Given the description of an element on the screen output the (x, y) to click on. 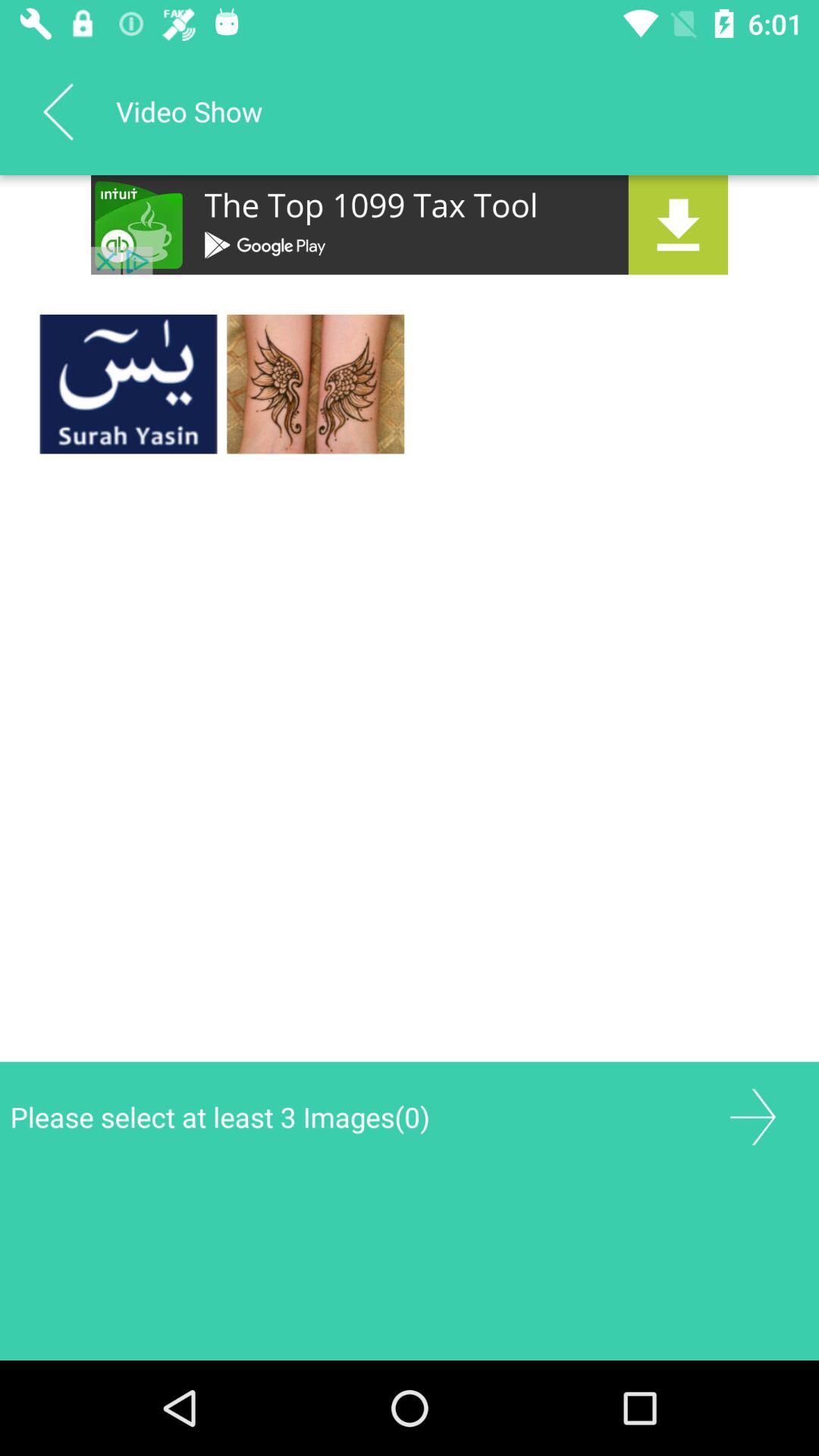
open advertisement (409, 224)
